Given the description of an element on the screen output the (x, y) to click on. 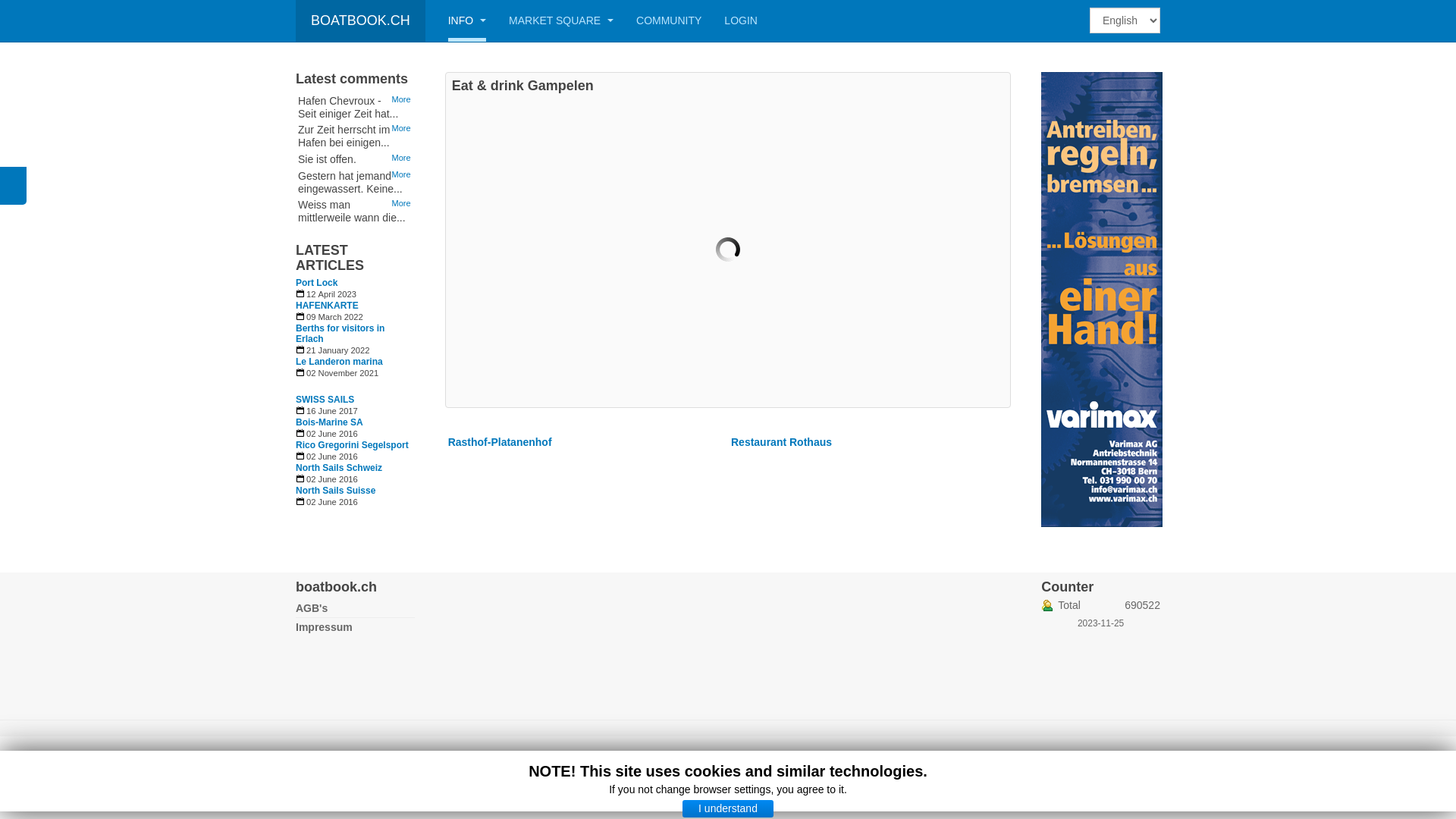
Berths for visitors in Erlach Element type: text (354, 333)
Restaurant Rothaus Element type: text (781, 442)
MARKET SQUARE Element type: text (560, 20)
Impressum Element type: text (354, 627)
HAFENKARTE Element type: text (354, 305)
Rico Gregorini Segelsport Element type: text (354, 444)
More Element type: text (401, 98)
INFO Element type: text (467, 20)
Rasthof-Platanenhof Element type: text (500, 442)
AGB's Element type: text (354, 608)
More Element type: text (401, 157)
More Element type: text (401, 202)
COMMUNITY Element type: text (668, 20)
BOATBOOK.CH Element type: text (360, 20)
Le Landeron marina Element type: text (354, 361)
Port Lock Element type: text (354, 282)
SWISS SAILS Element type: text (354, 399)
North Sails Suisse Element type: text (354, 490)
North Sails Schweiz Element type: text (354, 467)
Bois-Marine SA Element type: text (354, 422)
More Element type: text (401, 127)
More Element type: text (401, 173)
LOGIN Element type: text (740, 20)
